Given the description of an element on the screen output the (x, y) to click on. 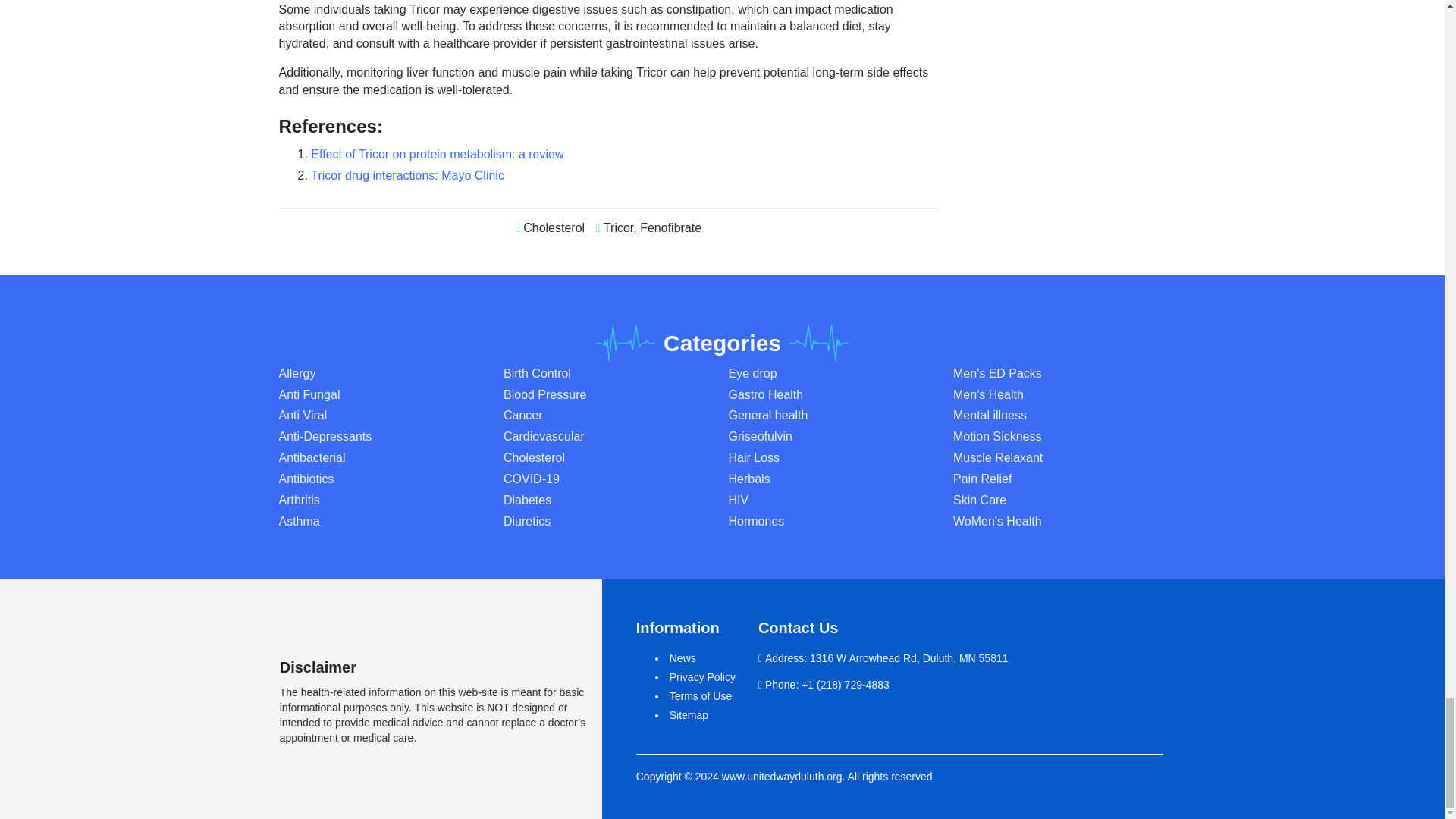
Cholesterol (553, 227)
Effect of Tricor on protein metabolism: a review (437, 154)
Tricor drug interactions: Mayo Clinic (407, 174)
